Given the description of an element on the screen output the (x, y) to click on. 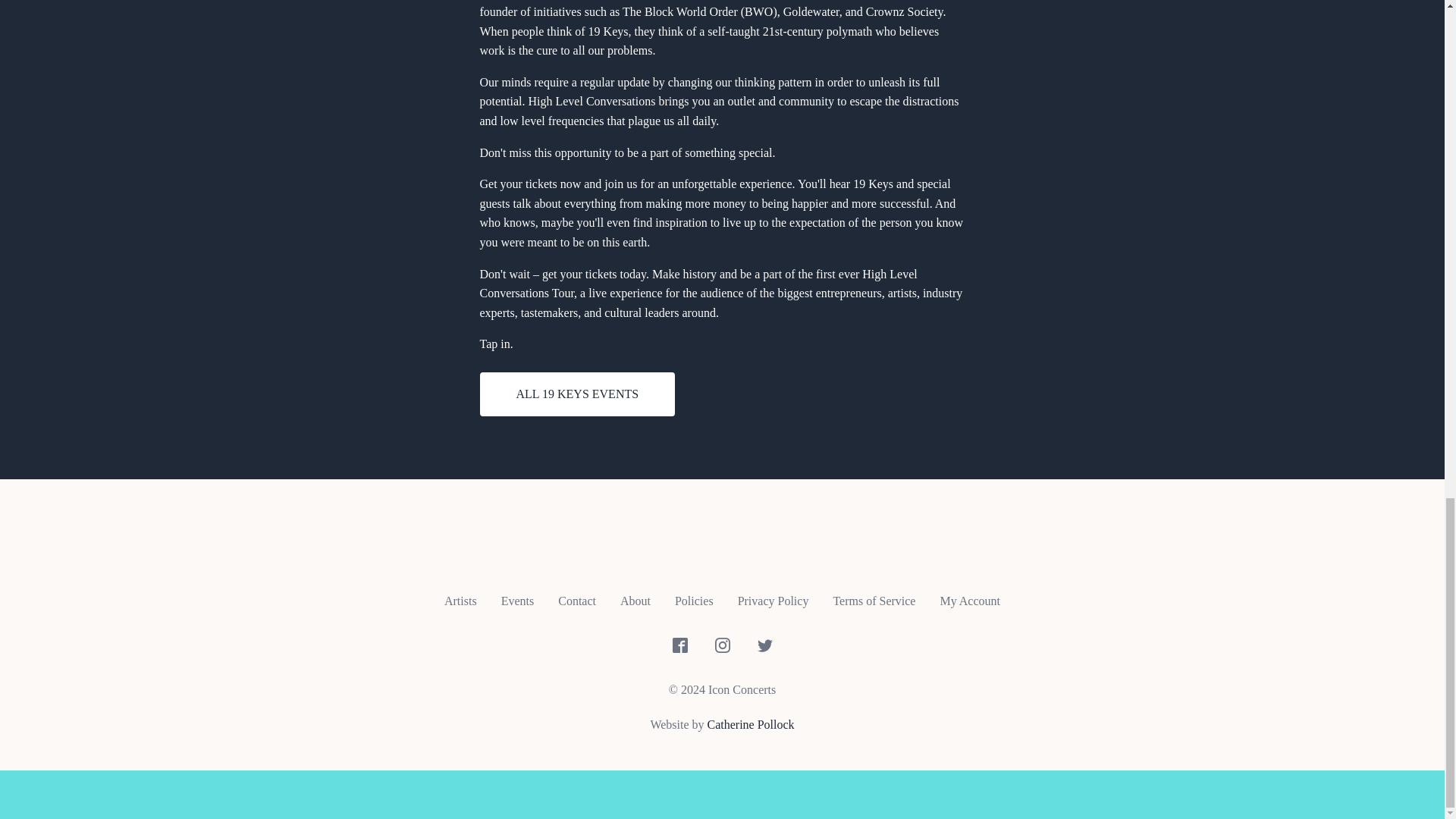
Contact (577, 601)
Artists (460, 601)
ALL 19 KEYS EVENTS (577, 394)
About (635, 601)
Events (518, 601)
Terms of Service (874, 601)
My Account (969, 601)
Policies (693, 601)
Privacy Policy (773, 601)
Catherine Pollock (750, 724)
